Given the description of an element on the screen output the (x, y) to click on. 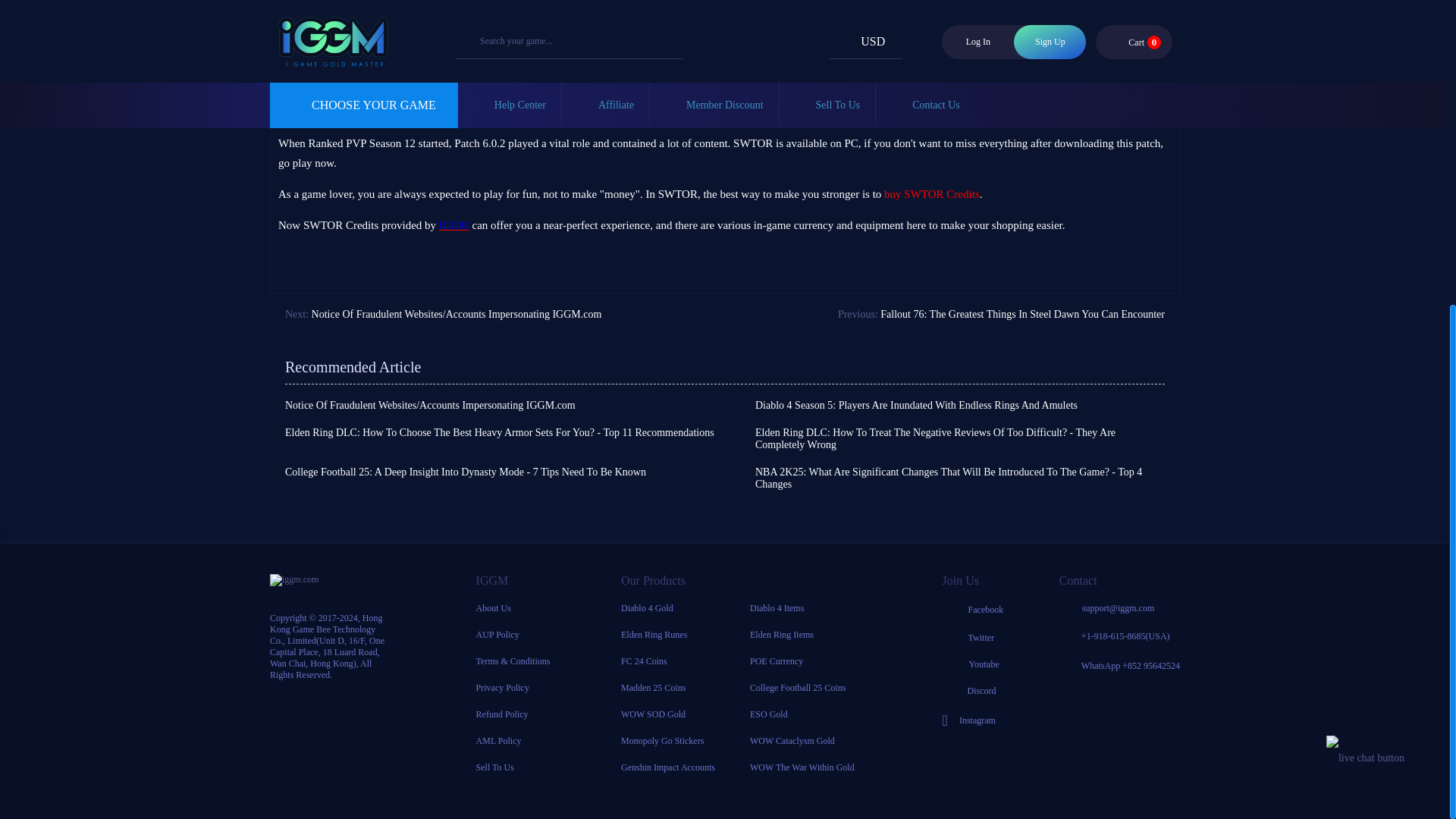
IGGM: Best Market For trading In-MMORPG gold, Items services (453, 224)
twitter (973, 637)
Buy SWTOR Credits, Star Wars the Old Republic Credits - IGGM (931, 193)
Instagram (973, 720)
discord (973, 690)
facebook (973, 609)
youtube (973, 664)
